Given the description of an element on the screen output the (x, y) to click on. 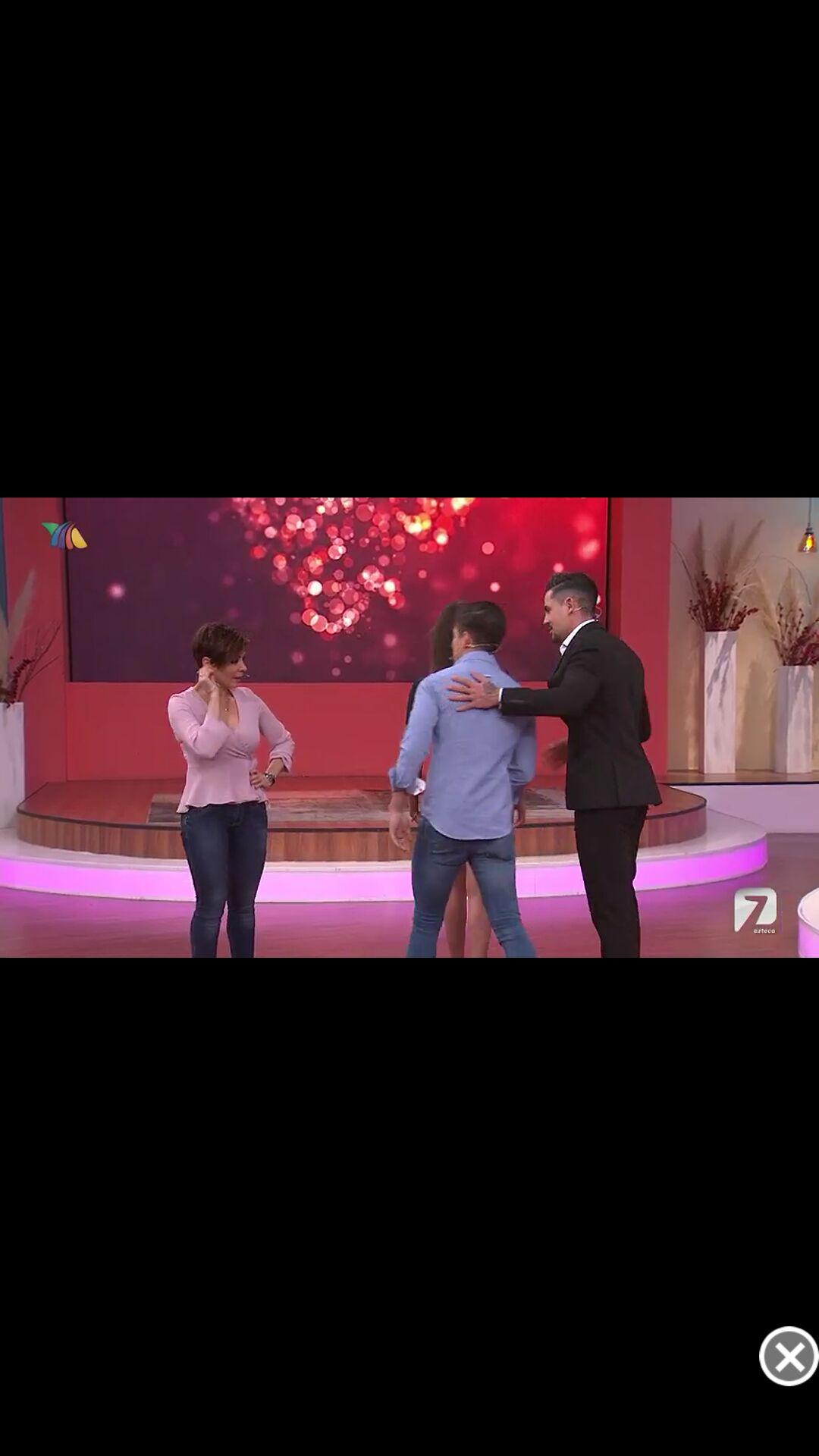
click x (789, 1356)
